Given the description of an element on the screen output the (x, y) to click on. 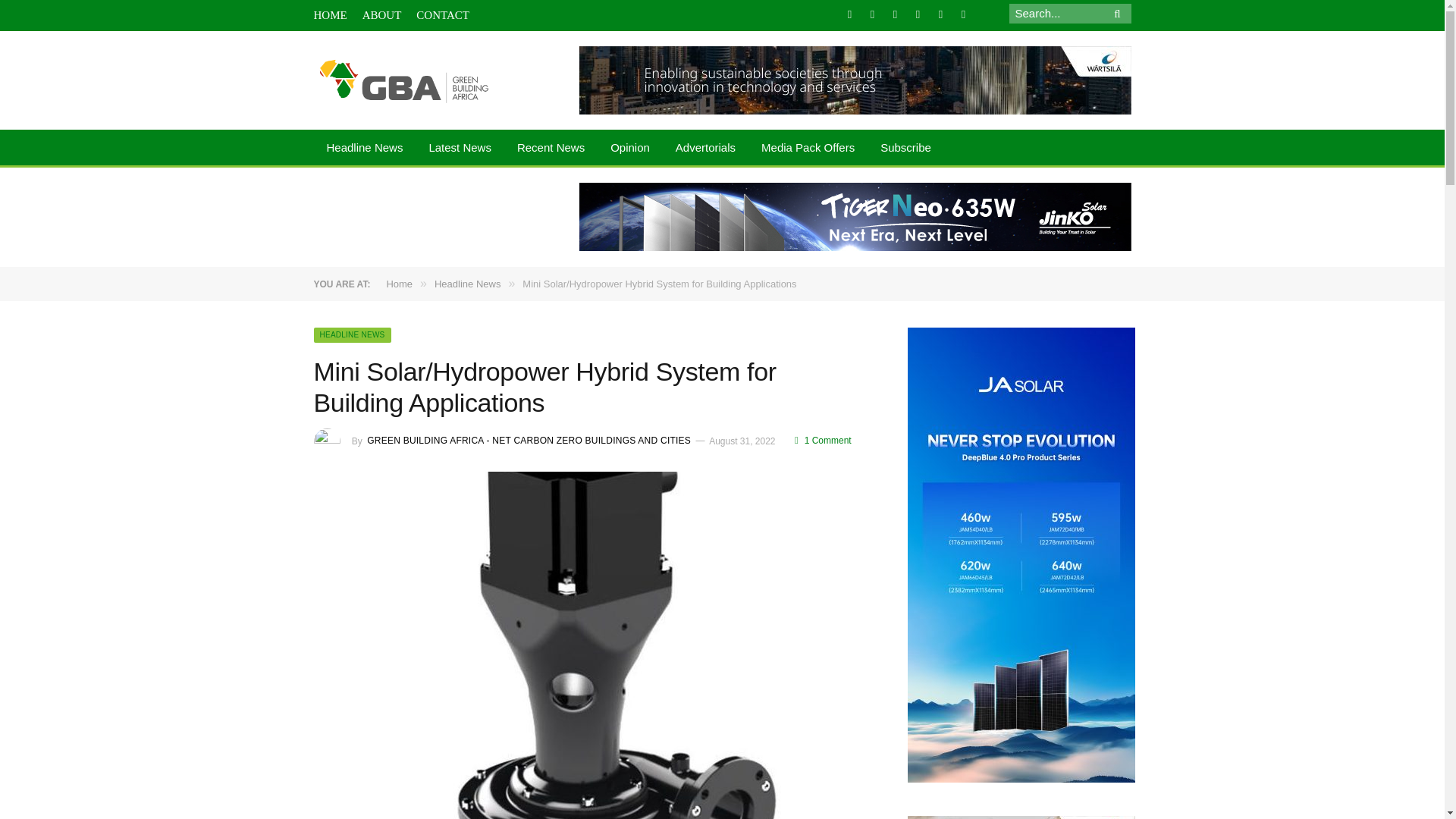
ABOUT (381, 15)
Twitter (871, 14)
Recent News (549, 148)
Facebook (849, 14)
LinkedIn (894, 14)
YouTube (963, 14)
Latest News (458, 148)
Facebook (849, 14)
Advertorials (705, 148)
Green Building Africa (404, 79)
Media Pack Offers (807, 148)
Pinerest (940, 14)
Opinion (629, 148)
Instagram (917, 14)
Subscribe (905, 148)
